Given the description of an element on the screen output the (x, y) to click on. 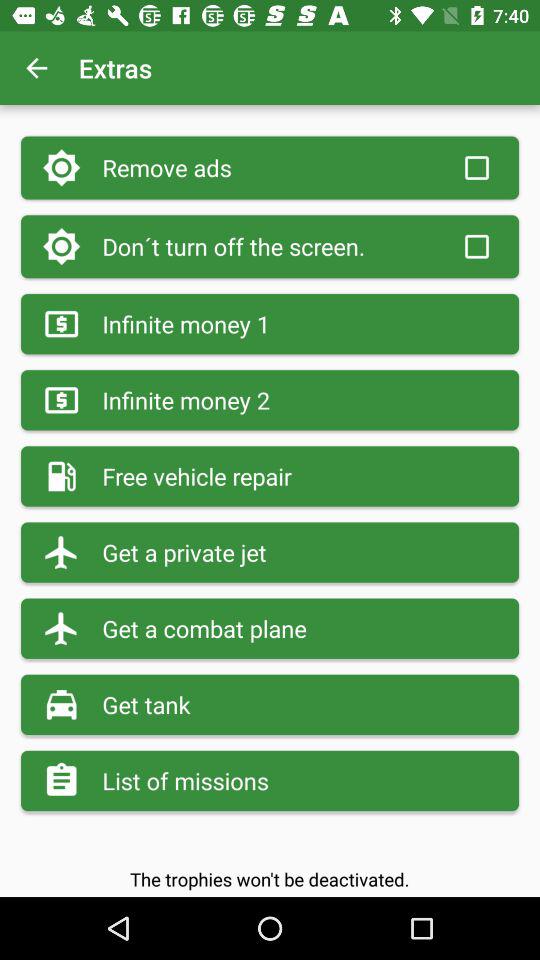
turn off the icon next to the remove ads (476, 168)
